Given the description of an element on the screen output the (x, y) to click on. 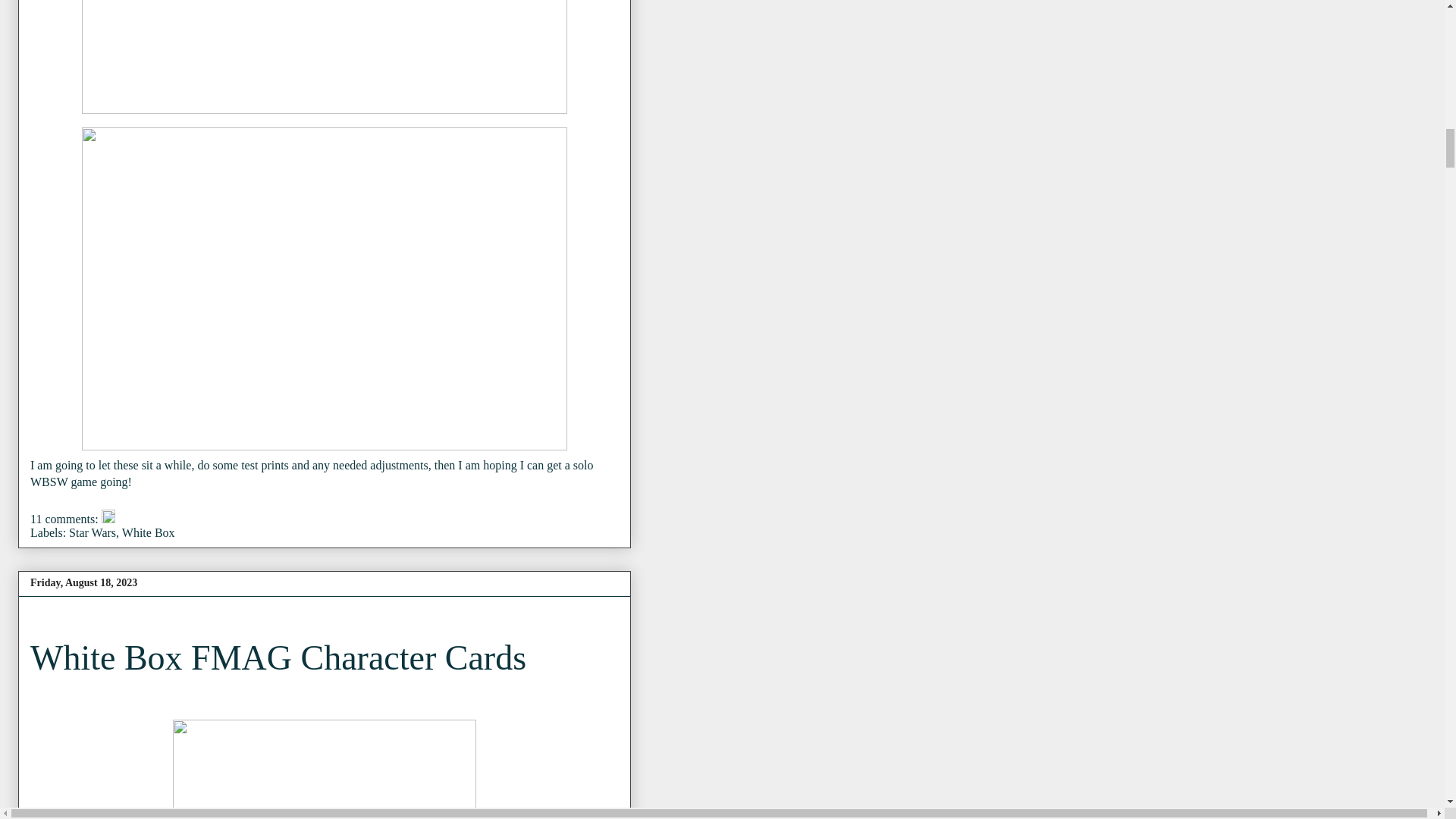
11 comments: (65, 518)
Edit Post (108, 518)
Star Wars (92, 532)
White Box (148, 532)
White Box FMAG Character Cards (277, 657)
